Given the description of an element on the screen output the (x, y) to click on. 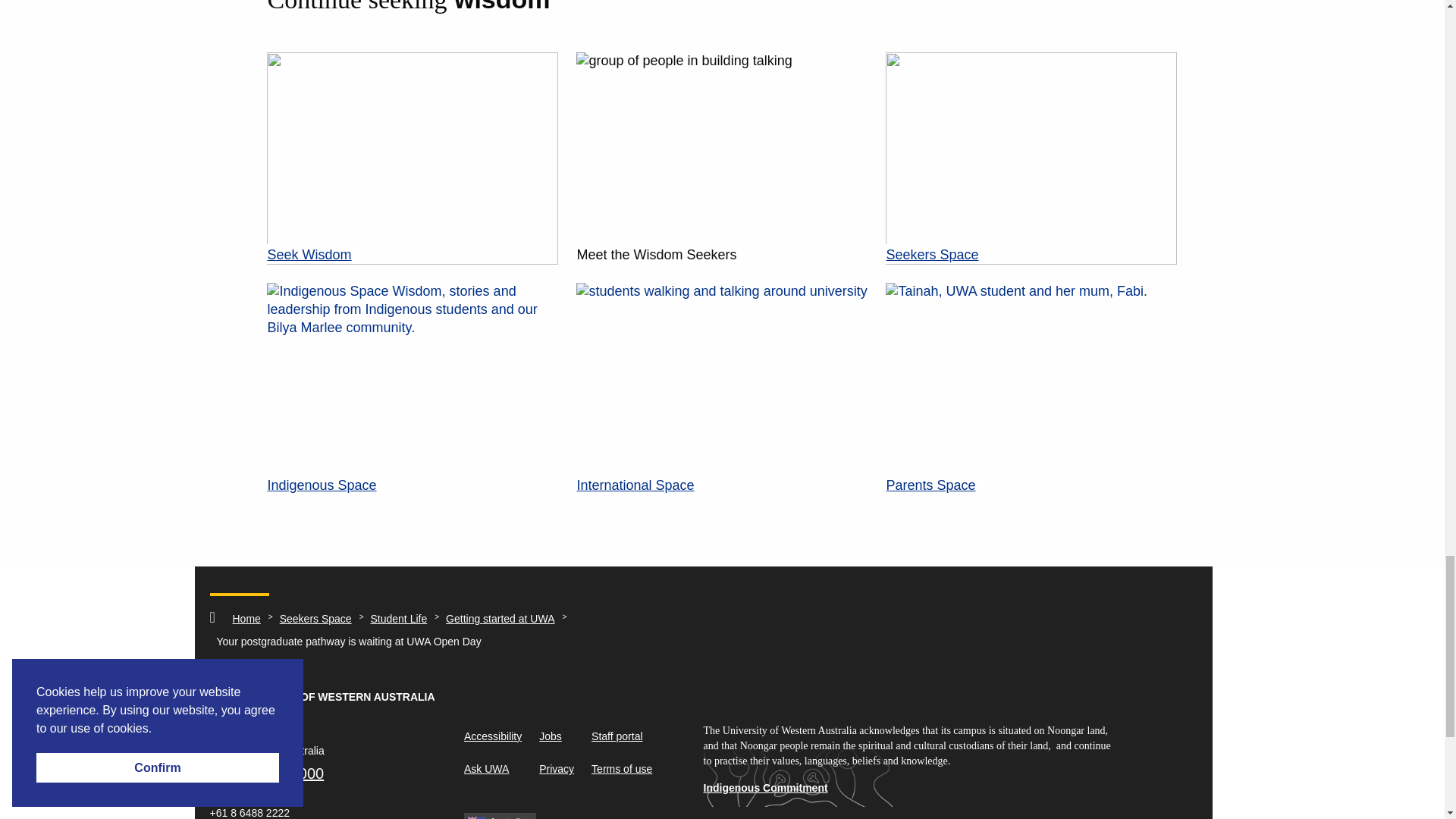
Home (245, 618)
Indigenous Space (411, 388)
Parents Space (1030, 388)
International Space (721, 388)
Seekers Space (1030, 158)
Home (245, 618)
Seek Wisdom (411, 158)
